Given the description of an element on the screen output the (x, y) to click on. 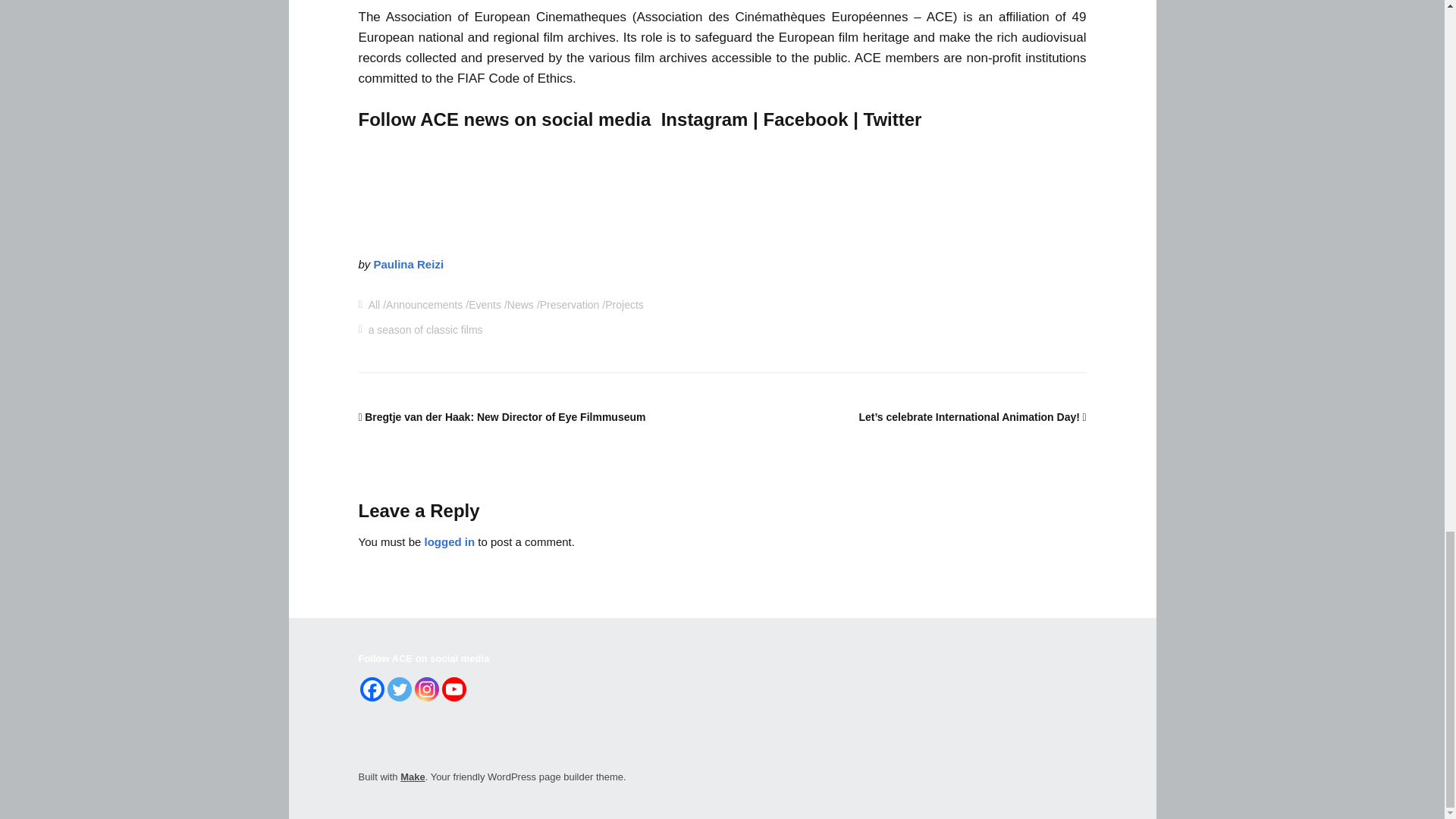
Instagram (425, 689)
Facebook (371, 689)
Youtube Channel (453, 689)
Twitter (398, 689)
